Given the description of an element on the screen output the (x, y) to click on. 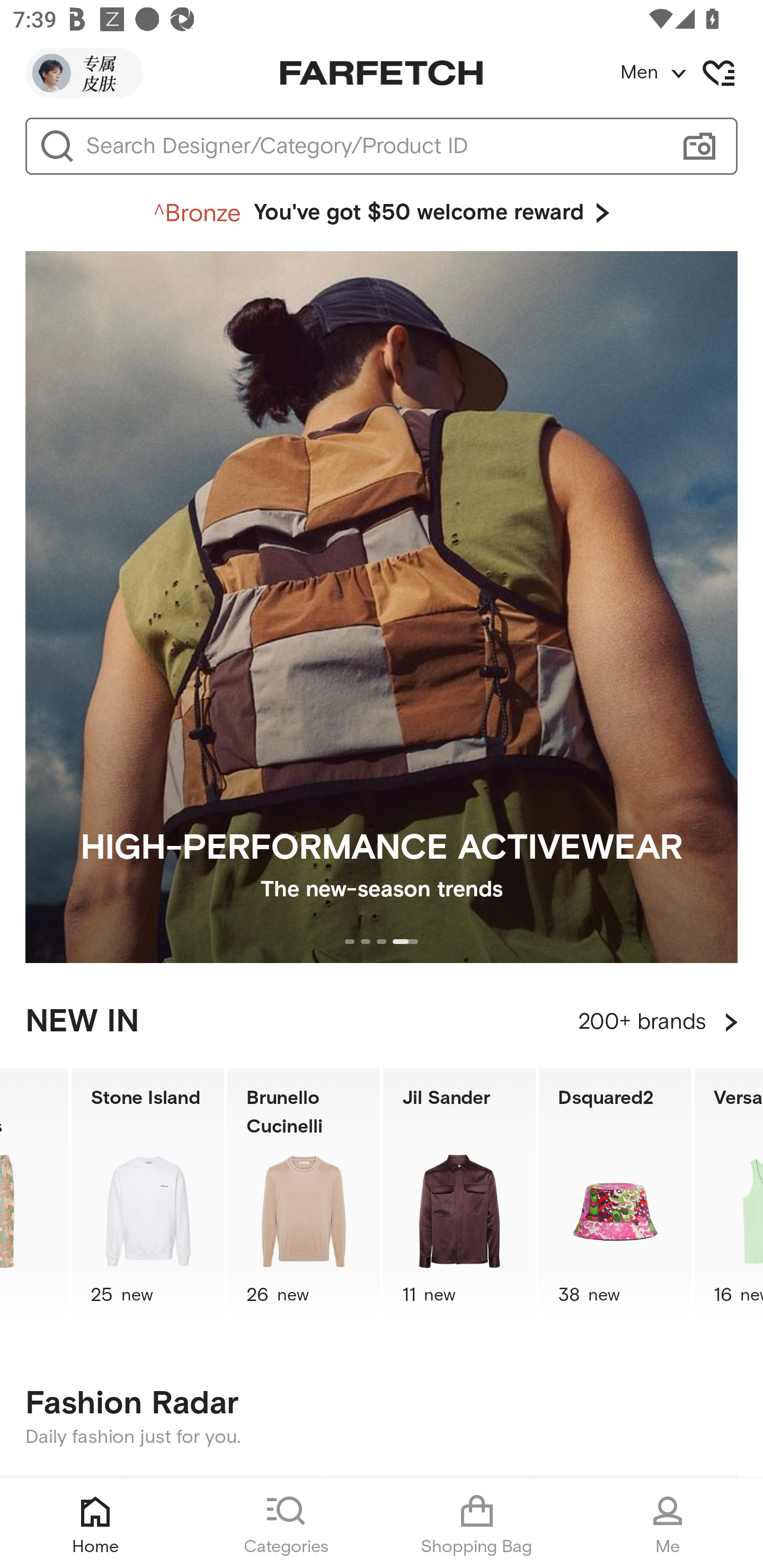
Men (691, 72)
Search Designer/Category/Product ID (373, 146)
You've got $50 welcome reward (381, 213)
NEW IN 200+ brands (381, 1021)
Stone Island 25  new (147, 1196)
Brunello Cucinelli 26  new (303, 1196)
Jil Sander 11  new (459, 1196)
Dsquared2 38  new (614, 1196)
Categories (285, 1523)
Shopping Bag (476, 1523)
Me (667, 1523)
